Given the description of an element on the screen output the (x, y) to click on. 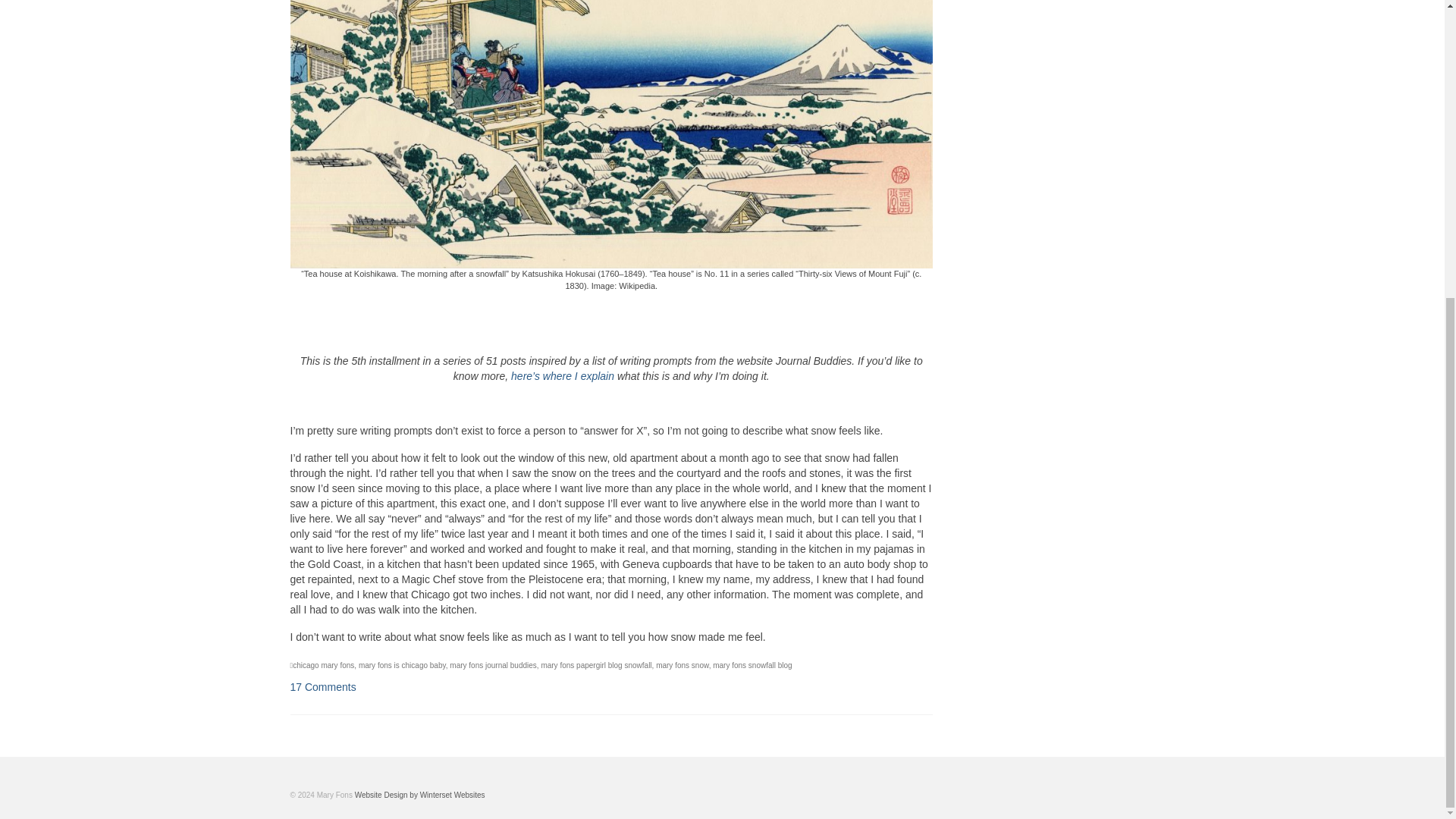
chicago mary fons (322, 664)
mary fons snow (681, 664)
Website Design by Winterset Websites (419, 795)
mary fons papergirl blog snowfall (595, 664)
mary fons snowfall blog (752, 664)
mary fons is chicago baby (401, 664)
mary fons journal buddies (493, 664)
17 Comments (322, 686)
